Given the description of an element on the screen output the (x, y) to click on. 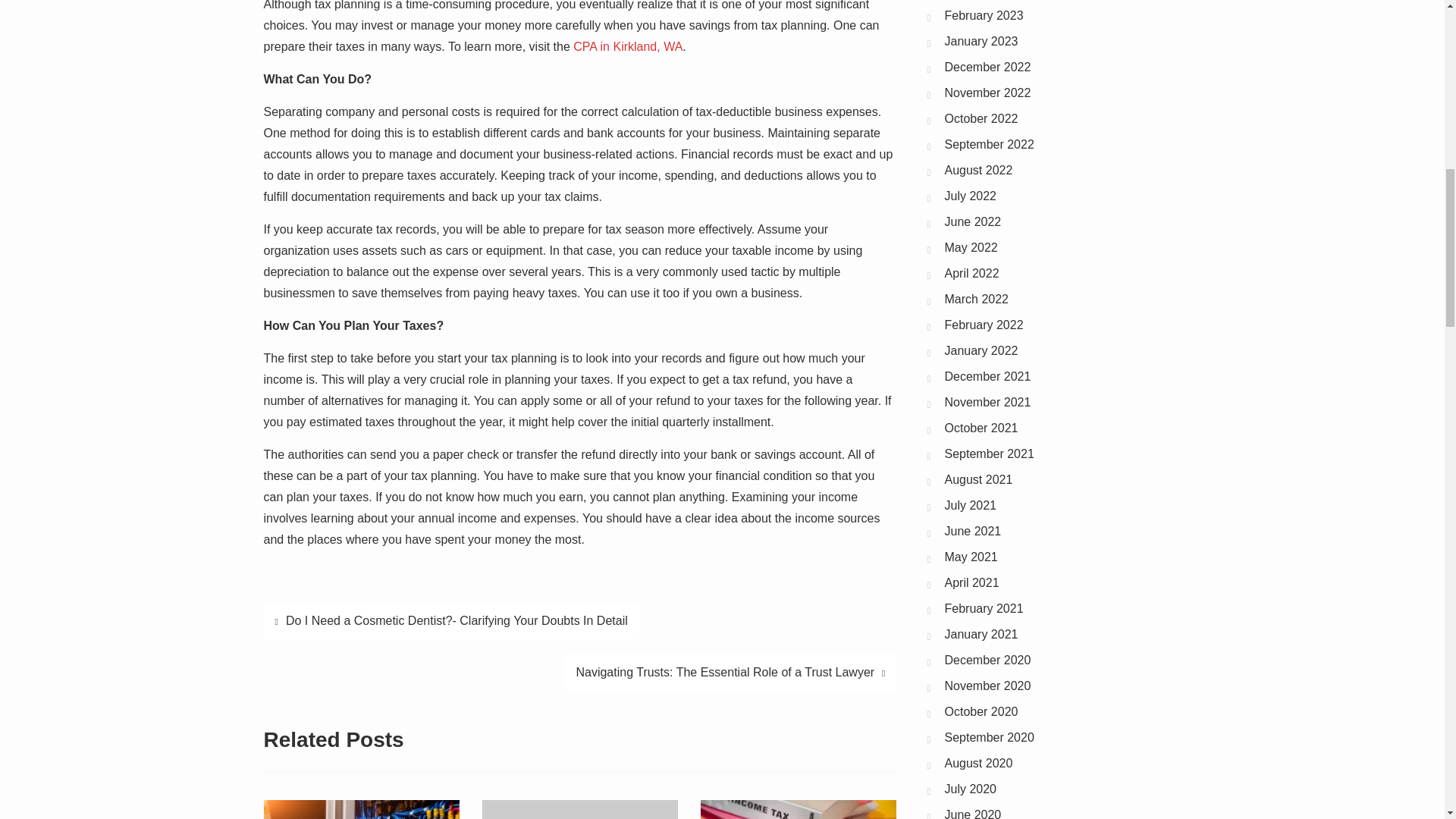
Navigating Trusts: The Essential Role of a Trust Lawyer (730, 672)
CPA in Kirkland, WA (627, 46)
